Given the description of an element on the screen output the (x, y) to click on. 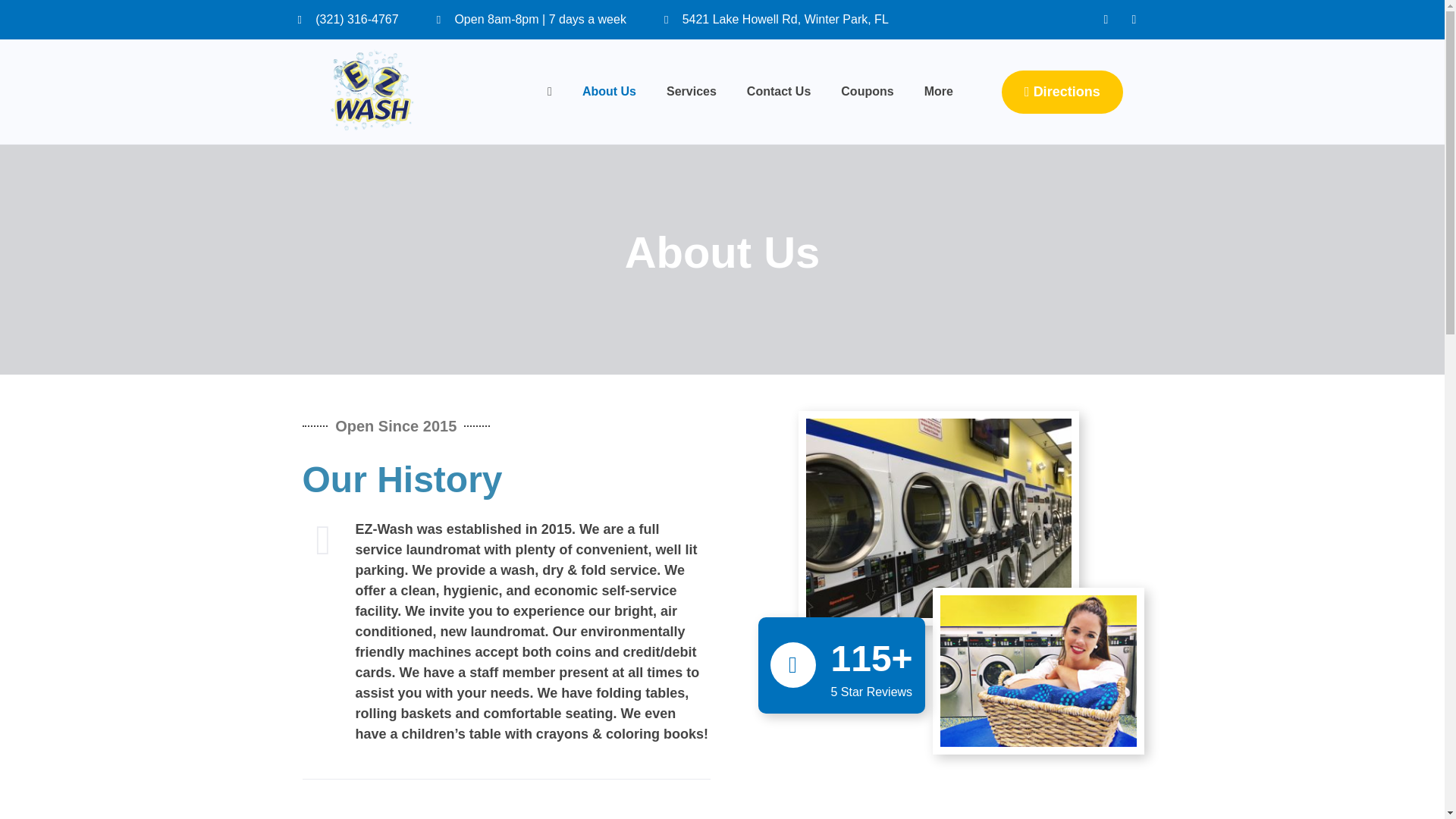
Services (691, 91)
Contact Us (778, 91)
Directions (1061, 91)
5421 Lake Howell Rd, Winter Park, FL (775, 19)
Coupons (866, 91)
About Us (608, 91)
More (938, 91)
